Given the description of an element on the screen output the (x, y) to click on. 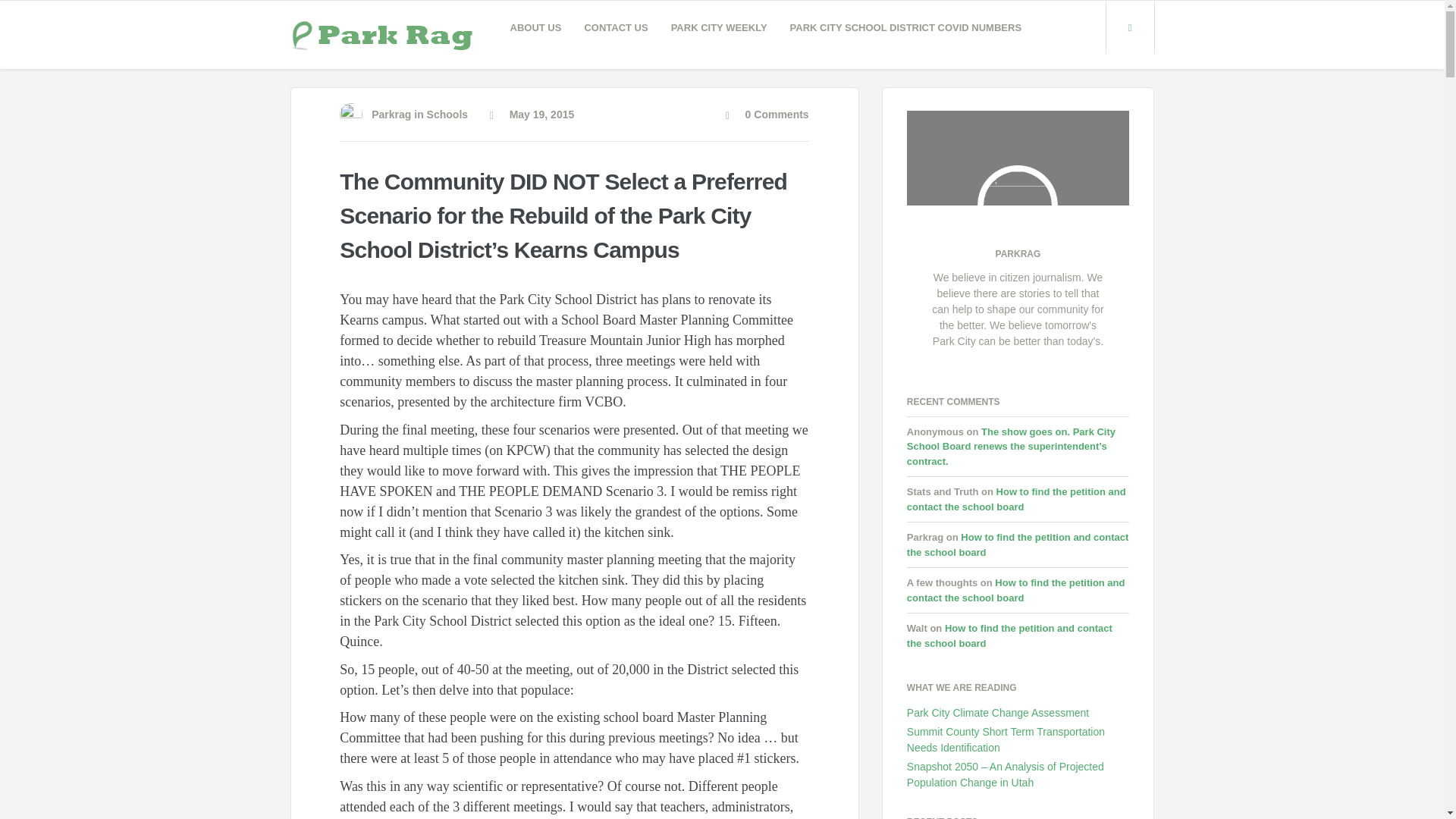
How to find the petition and contact the school board (1018, 544)
ABOUT US (536, 27)
  May 19, 2015 (531, 114)
Schools (446, 114)
How to find the petition and contact the school board (1016, 590)
Summit County Short Term Transportation Needs Identification (1006, 739)
Park City Climate Change Assessment (998, 712)
PARK CITY SCHOOL DISTRICT COVID NUMBERS (905, 27)
How to find the petition and contact the school board (1009, 635)
  0 Comments (767, 114)
